Given the description of an element on the screen output the (x, y) to click on. 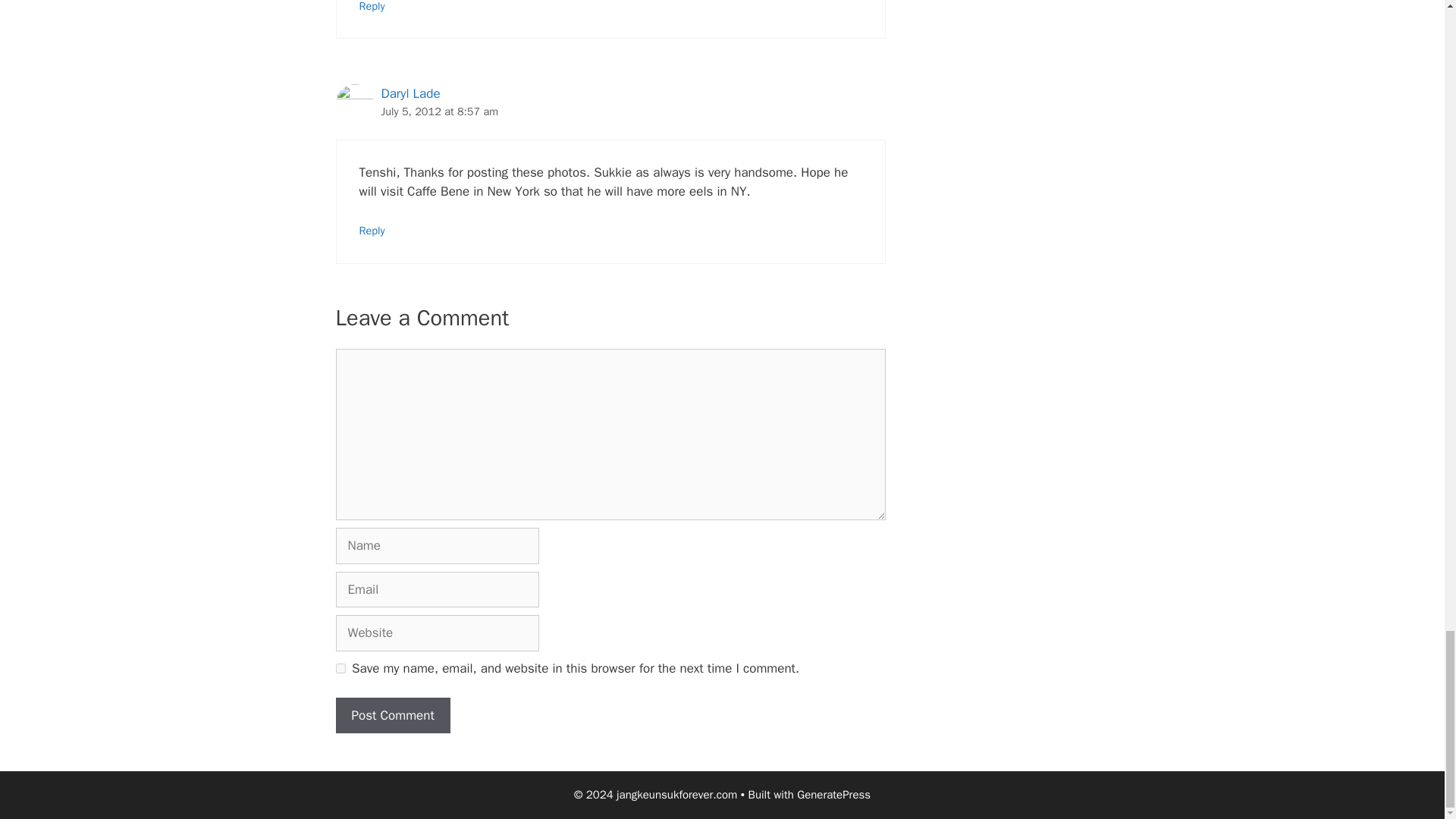
Post Comment (391, 715)
Daryl Lade (409, 93)
Reply (372, 230)
Post Comment (391, 715)
yes (339, 668)
July 5, 2012 at 8:57 am (438, 110)
Reply (372, 6)
